Given the description of an element on the screen output the (x, y) to click on. 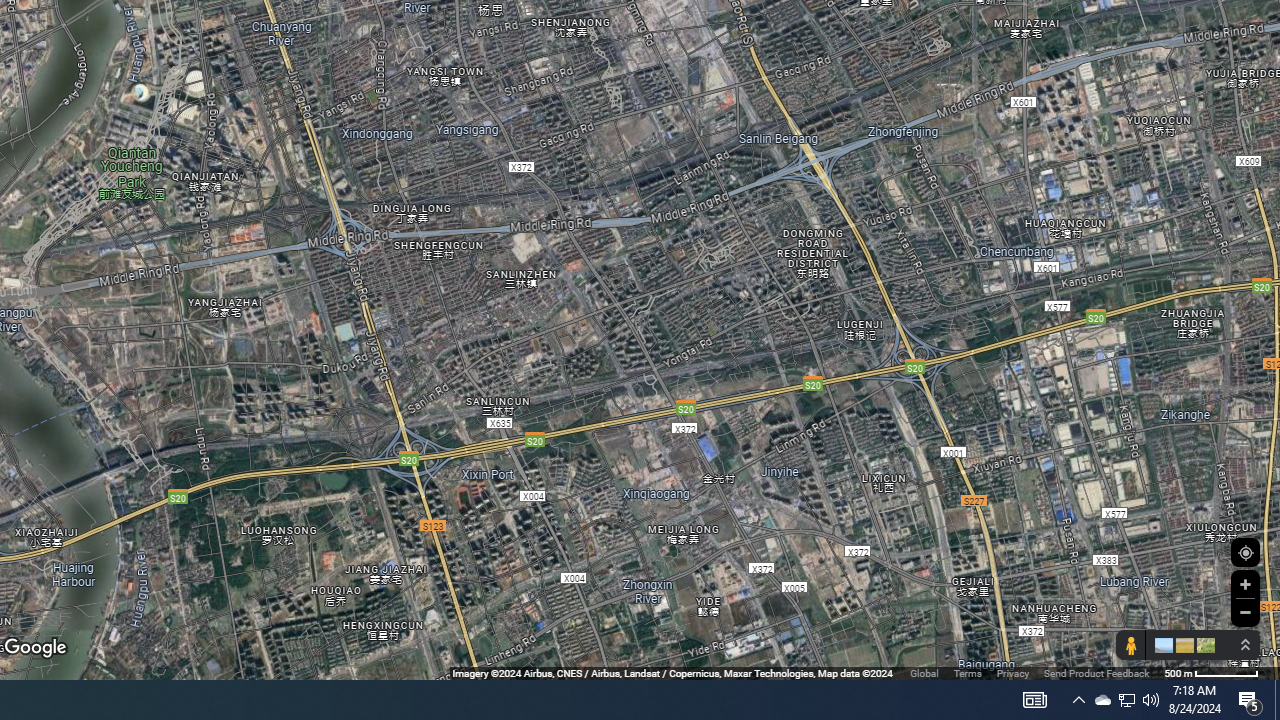
Show Your Location (1245, 552)
500 m (1211, 672)
Zoom out (1245, 612)
Global (924, 672)
Show Street View coverage (1130, 645)
Send Product Feedback (1096, 672)
Zoom in (1245, 584)
Show imagery (1202, 645)
